Given the description of an element on the screen output the (x, y) to click on. 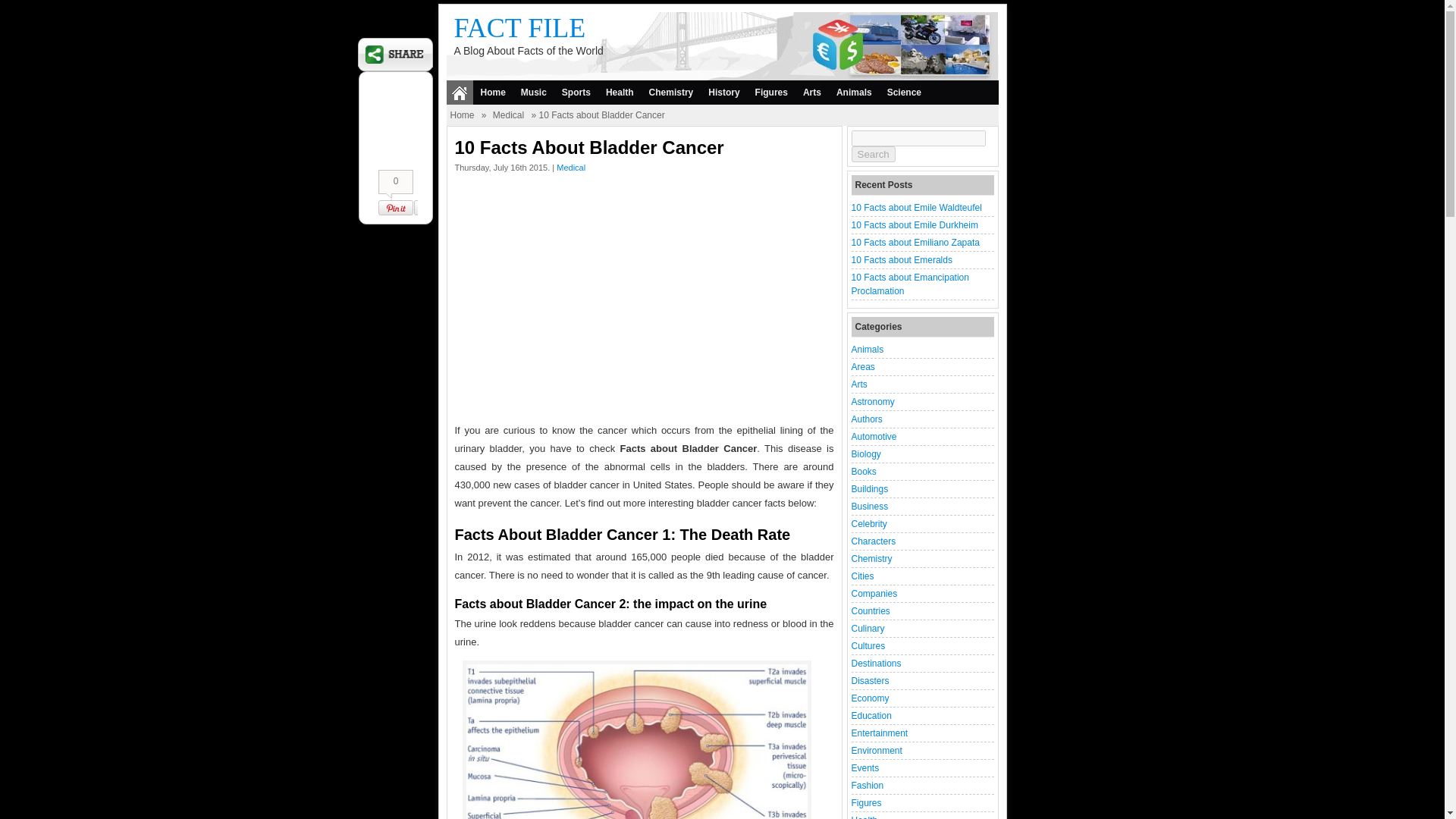
Sports (576, 92)
Medical (570, 166)
Advertisement (644, 301)
Search (872, 154)
FACT FILE (518, 28)
Science (903, 92)
10 Facts about Emeralds (901, 259)
History (723, 92)
Home (493, 92)
Fact File (518, 28)
Health (620, 92)
Animals (866, 348)
Figures (771, 92)
Music (533, 92)
Areas (862, 366)
